Given the description of an element on the screen output the (x, y) to click on. 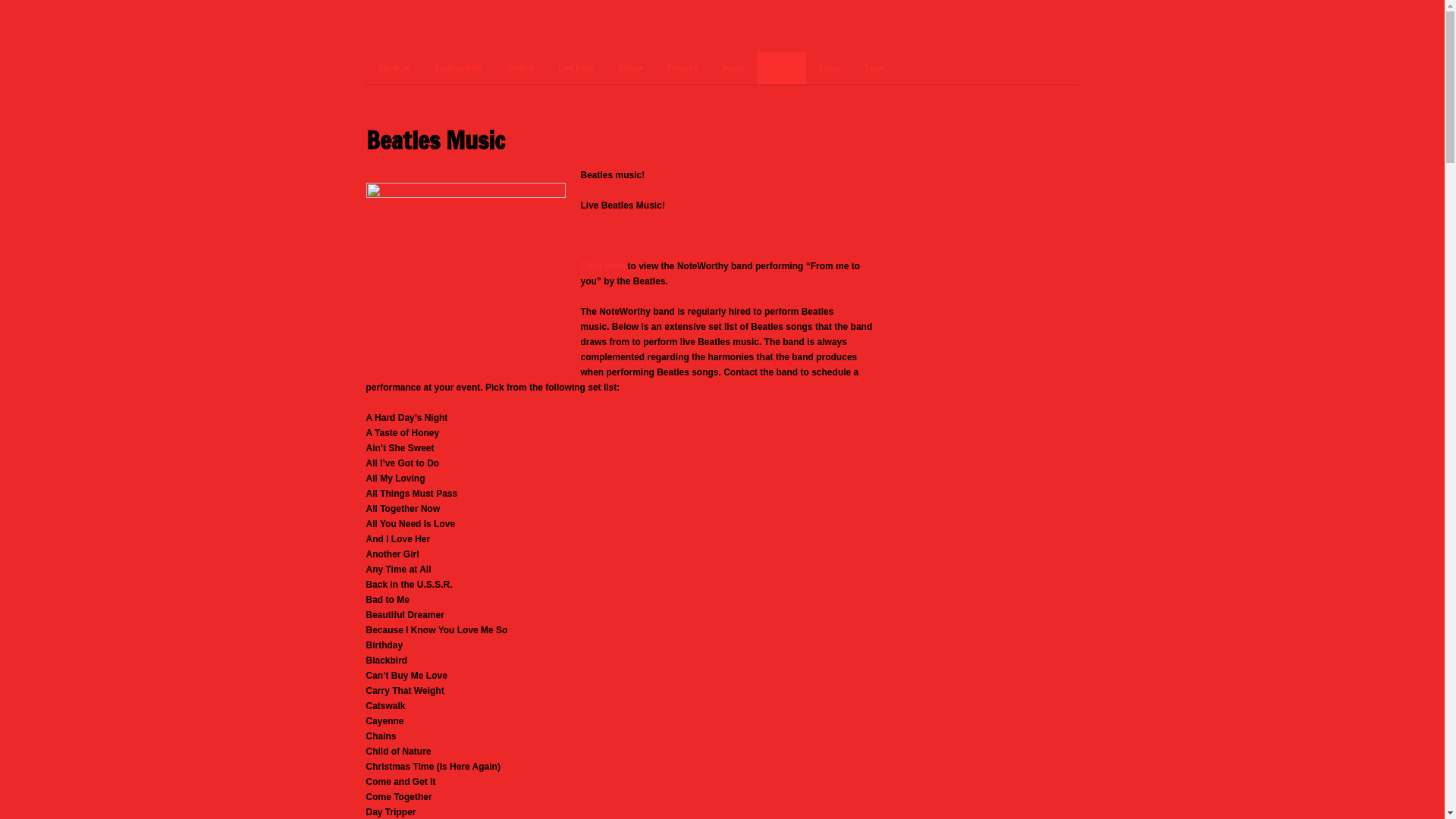
Pictures Element type: text (681, 68)
Live Band Element type: text (575, 68)
Click Here Element type: text (602, 265)
Team Element type: text (873, 68)
Testimonials Element type: text (457, 68)
About us Element type: text (392, 68)
Genres Element type: text (781, 68)
Videos Element type: text (629, 68)
Types Element type: text (828, 68)
Contact Element type: text (519, 68)
Songs Element type: text (731, 68)
